Given the description of an element on the screen output the (x, y) to click on. 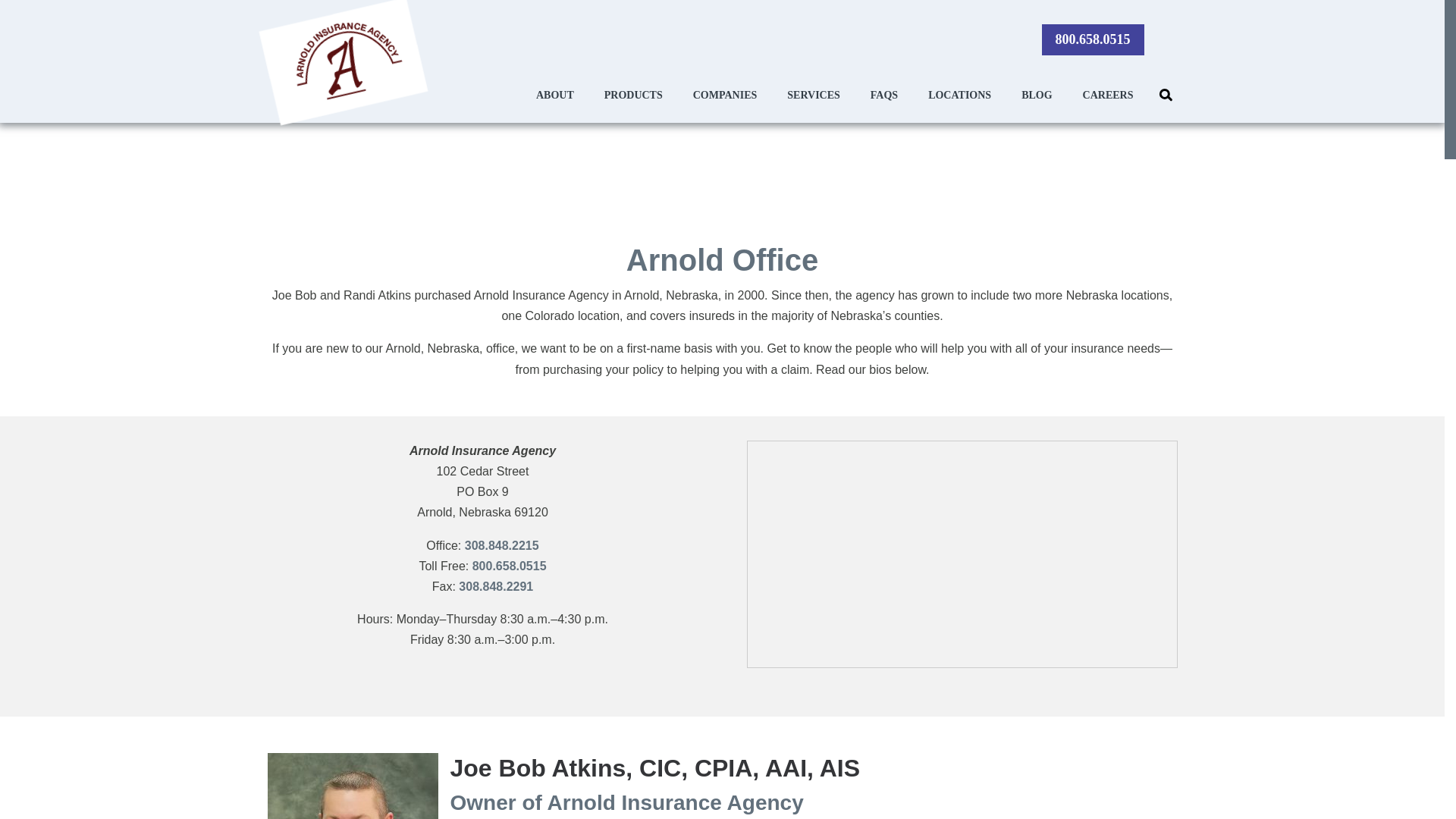
SERVICES (812, 95)
Joe Bob 2015 Kd (352, 785)
ABOUT (555, 95)
FAQS (884, 95)
Call Us (1093, 39)
BLOG (1036, 95)
CAREERS (1108, 95)
308.848.2215 (501, 544)
LOCATIONS (959, 95)
PRODUCTS (633, 95)
